Given the description of an element on the screen output the (x, y) to click on. 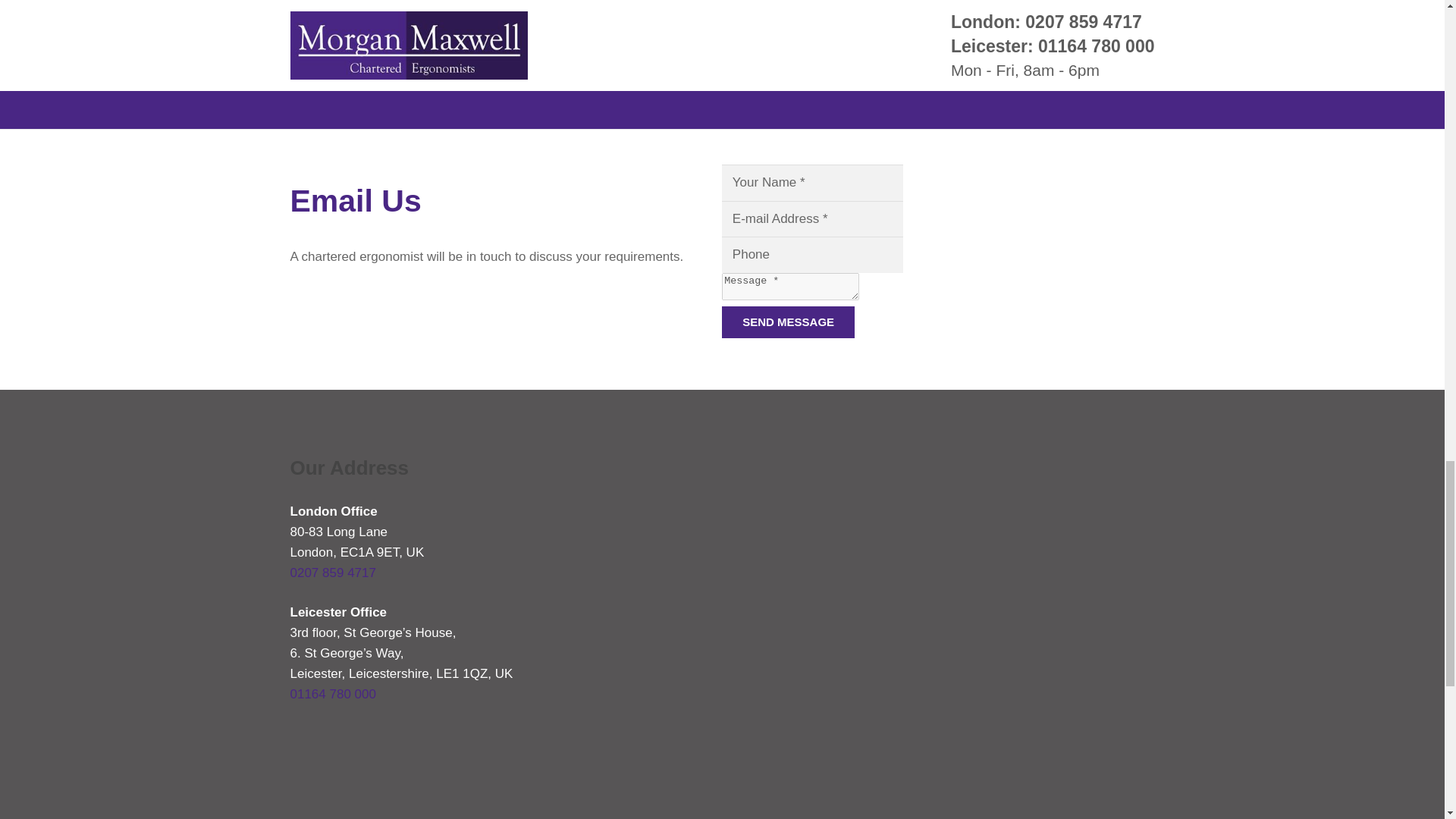
Phone (812, 254)
SEND MESSAGE (788, 322)
01164 780 000 (332, 694)
SEND MESSAGE (788, 322)
0207 859 4717 (332, 572)
